Given the description of an element on the screen output the (x, y) to click on. 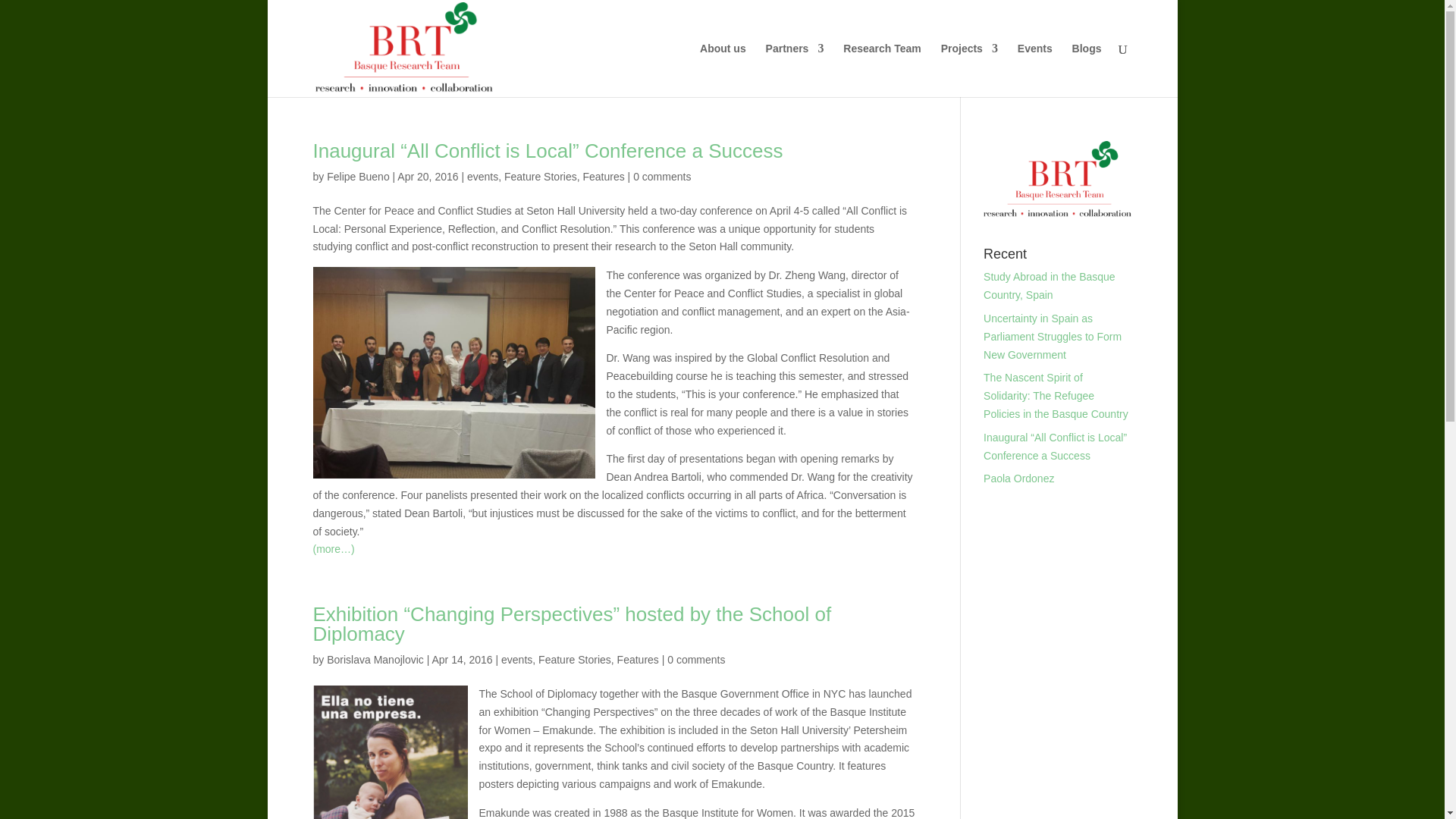
events (482, 176)
Felipe Bueno (358, 176)
Projects (968, 70)
Posts by Borislava Manojlovic (374, 659)
Partners (794, 70)
Research Team (881, 70)
Posts by Felipe Bueno (358, 176)
